Given the description of an element on the screen output the (x, y) to click on. 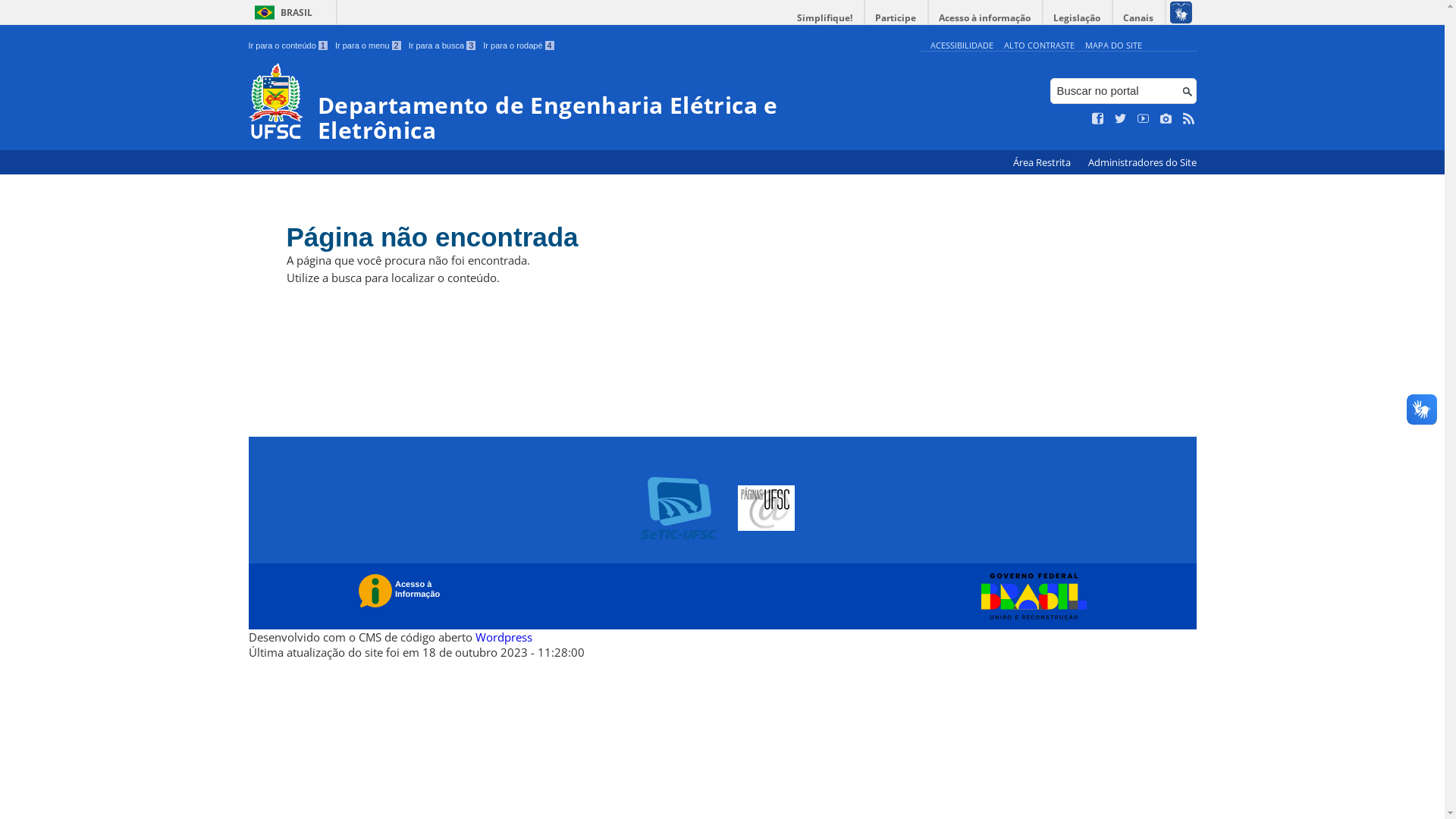
Canais Element type: text (1138, 18)
Participe Element type: text (895, 18)
MAPA DO SITE Element type: text (1112, 44)
Administradores do Site Element type: text (1141, 162)
ALTO CONTRASTE Element type: text (1039, 44)
BRASIL Element type: text (280, 12)
Siga no Twitter Element type: hover (1120, 118)
Veja no Instagram Element type: hover (1166, 118)
Simplifique! Element type: text (825, 18)
Ir para o menu 2 Element type: text (368, 45)
Curta no Facebook Element type: hover (1098, 118)
Ir para a busca 3 Element type: text (442, 45)
Governo Federal Element type: hover (1029, 596)
Wordpress Element type: text (502, 636)
ACESSIBILIDADE Element type: text (960, 44)
